Given the description of an element on the screen output the (x, y) to click on. 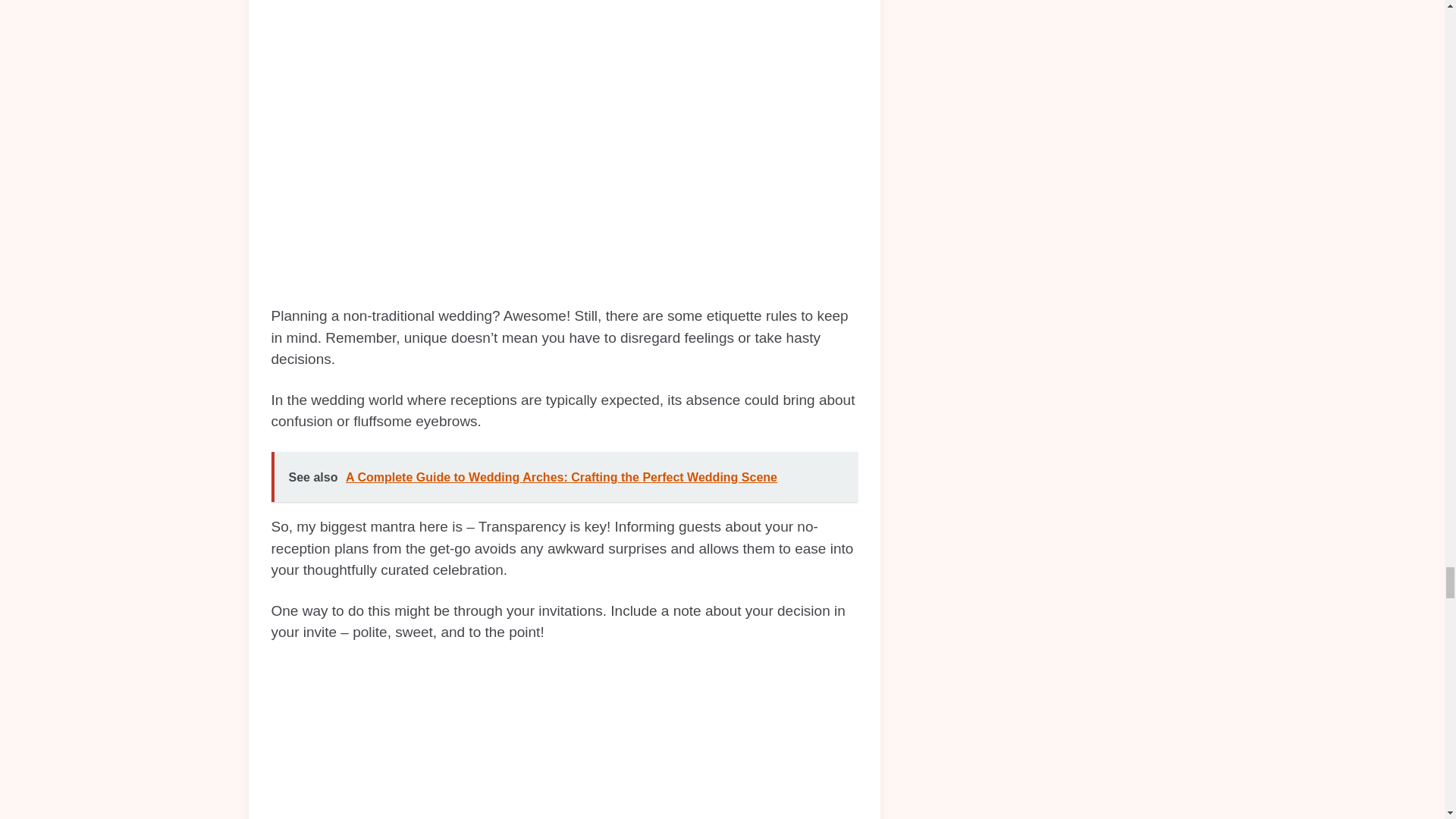
No Need for Ceremony: How to Host a Reception-Only Wedding (564, 740)
